Given the description of an element on the screen output the (x, y) to click on. 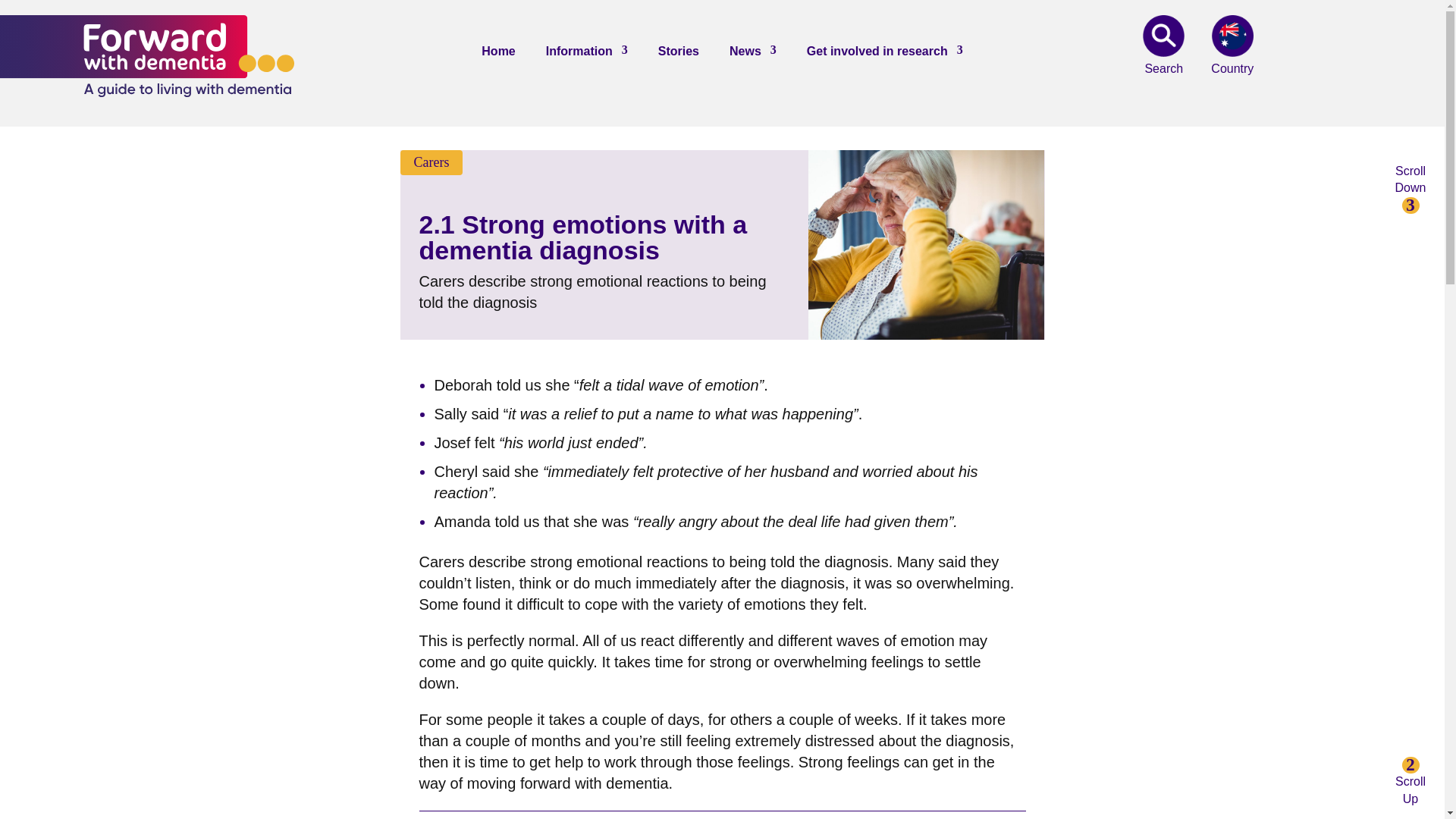
Home (498, 54)
Scroll Down (1409, 187)
Stories (678, 54)
Information (586, 54)
Country (1232, 35)
Get involved in research (884, 54)
Scroll Up (1409, 781)
Search (1163, 35)
News (752, 54)
